Given the description of an element on the screen output the (x, y) to click on. 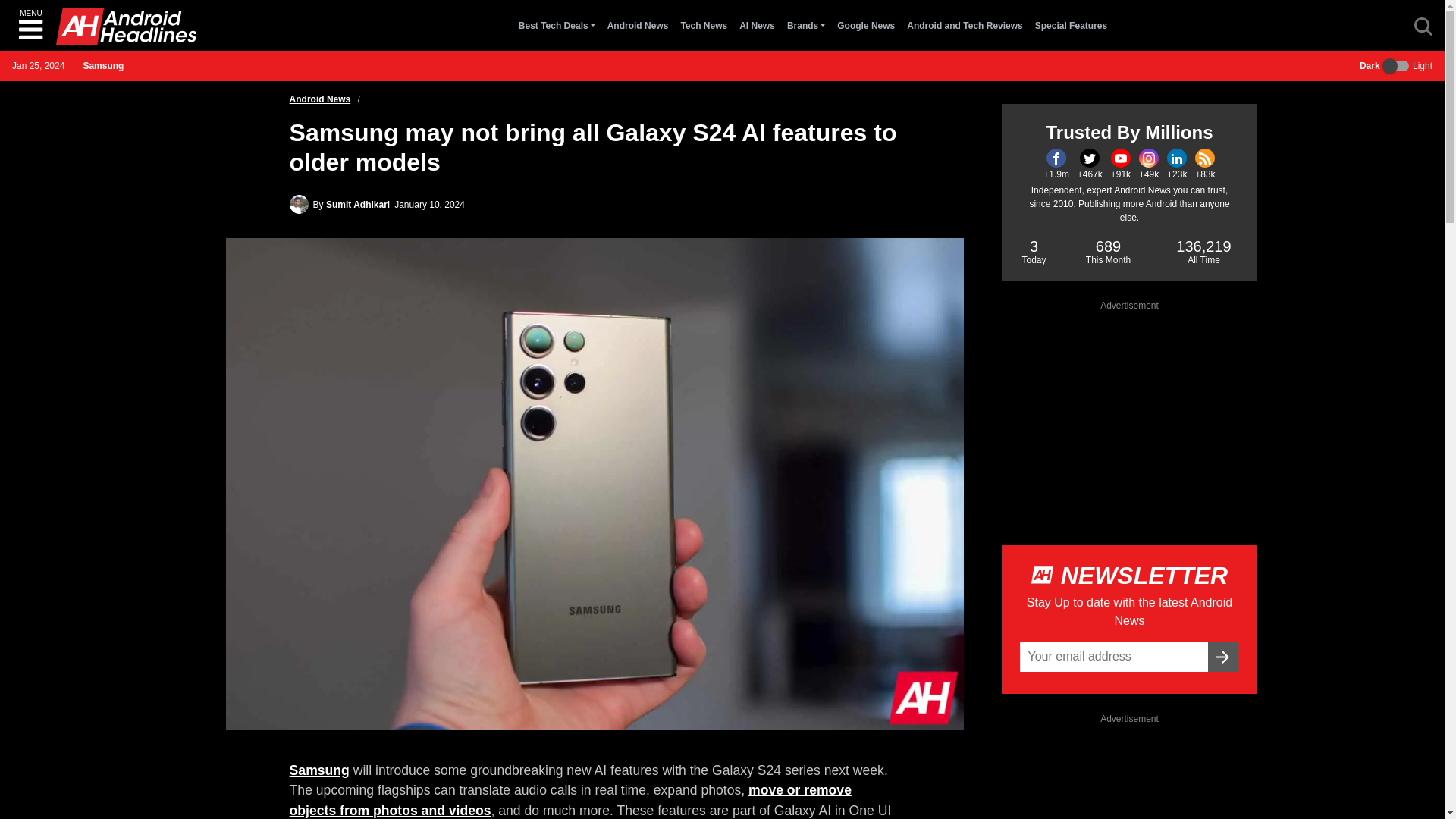
youtube (1120, 158)
twitter (1089, 158)
instagram (1148, 158)
rss (1204, 158)
linkedin2 (1176, 158)
search (1422, 26)
facebook (1055, 158)
